Given the description of an element on the screen output the (x, y) to click on. 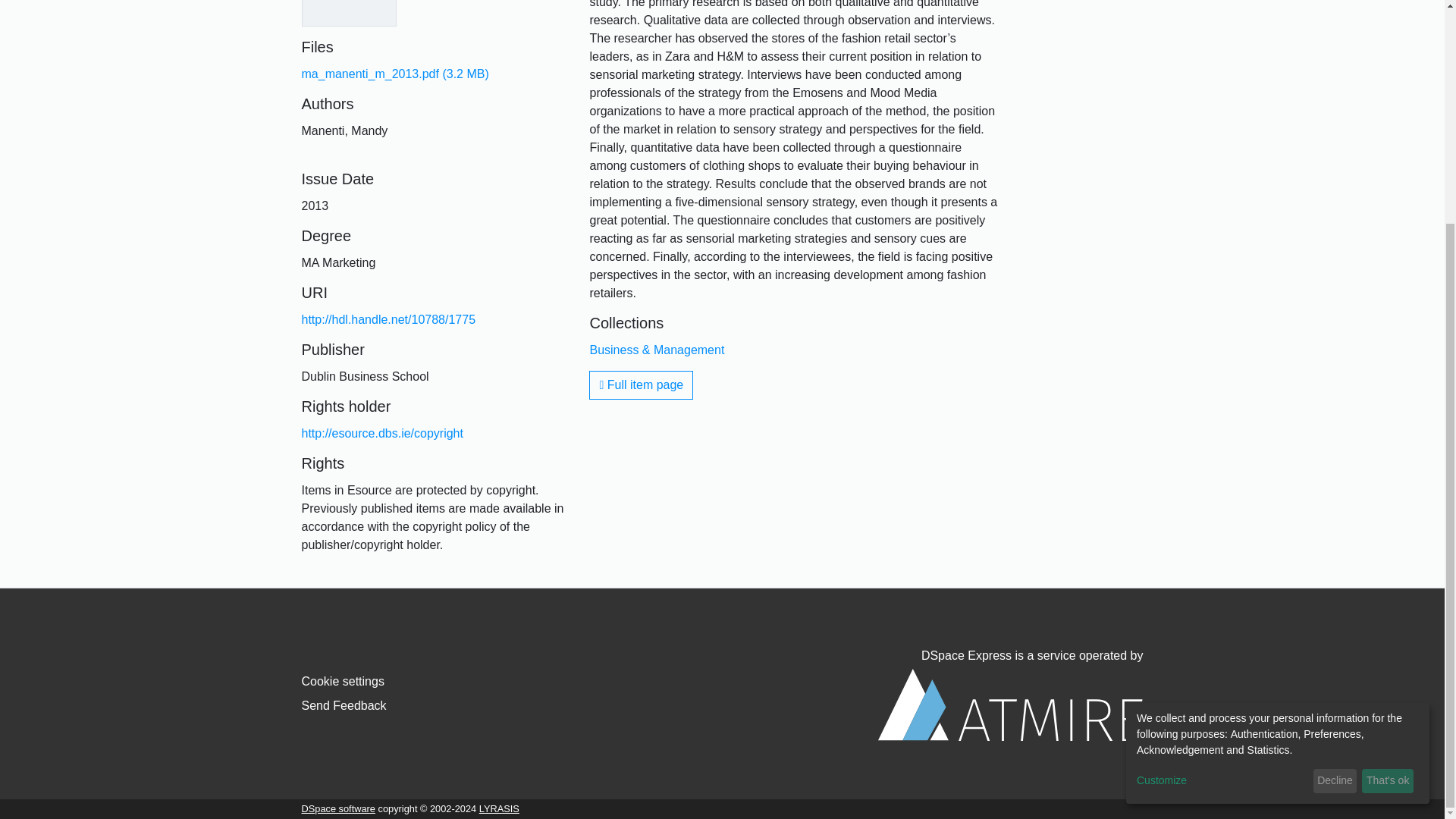
Full item page (641, 385)
LYRASIS (499, 808)
DSpace Express is a service operated by (1009, 695)
Customize (1222, 482)
Cookie settings (342, 680)
That's ok (1387, 482)
DSpace software (338, 808)
Send Feedback (344, 705)
Decline (1334, 482)
